Given the description of an element on the screen output the (x, y) to click on. 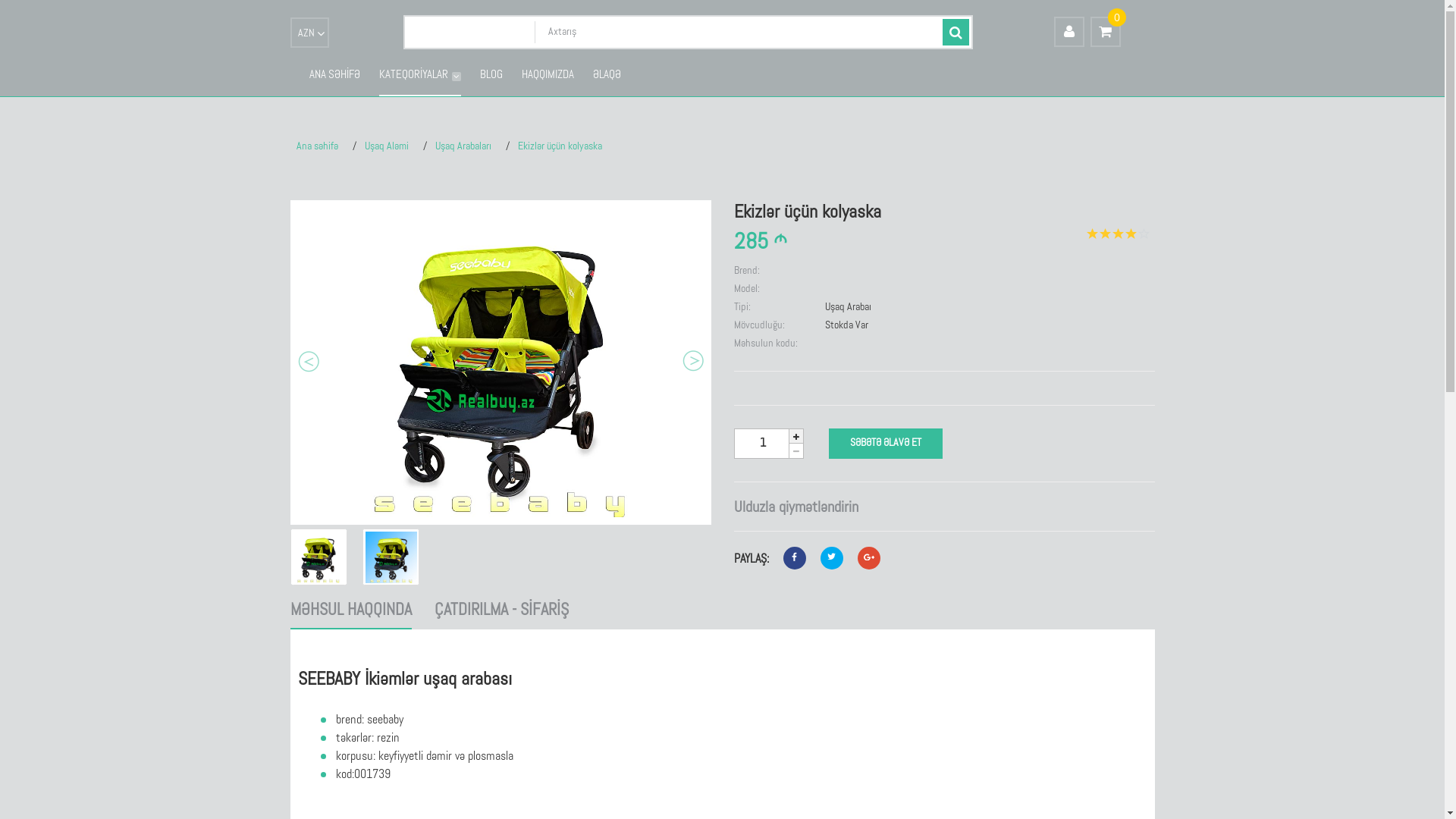
AZN Element type: text (308, 33)
BLOG Element type: text (490, 76)
0 Element type: text (1105, 31)
HAQQIMIZDA Element type: text (547, 76)
